Given the description of an element on the screen output the (x, y) to click on. 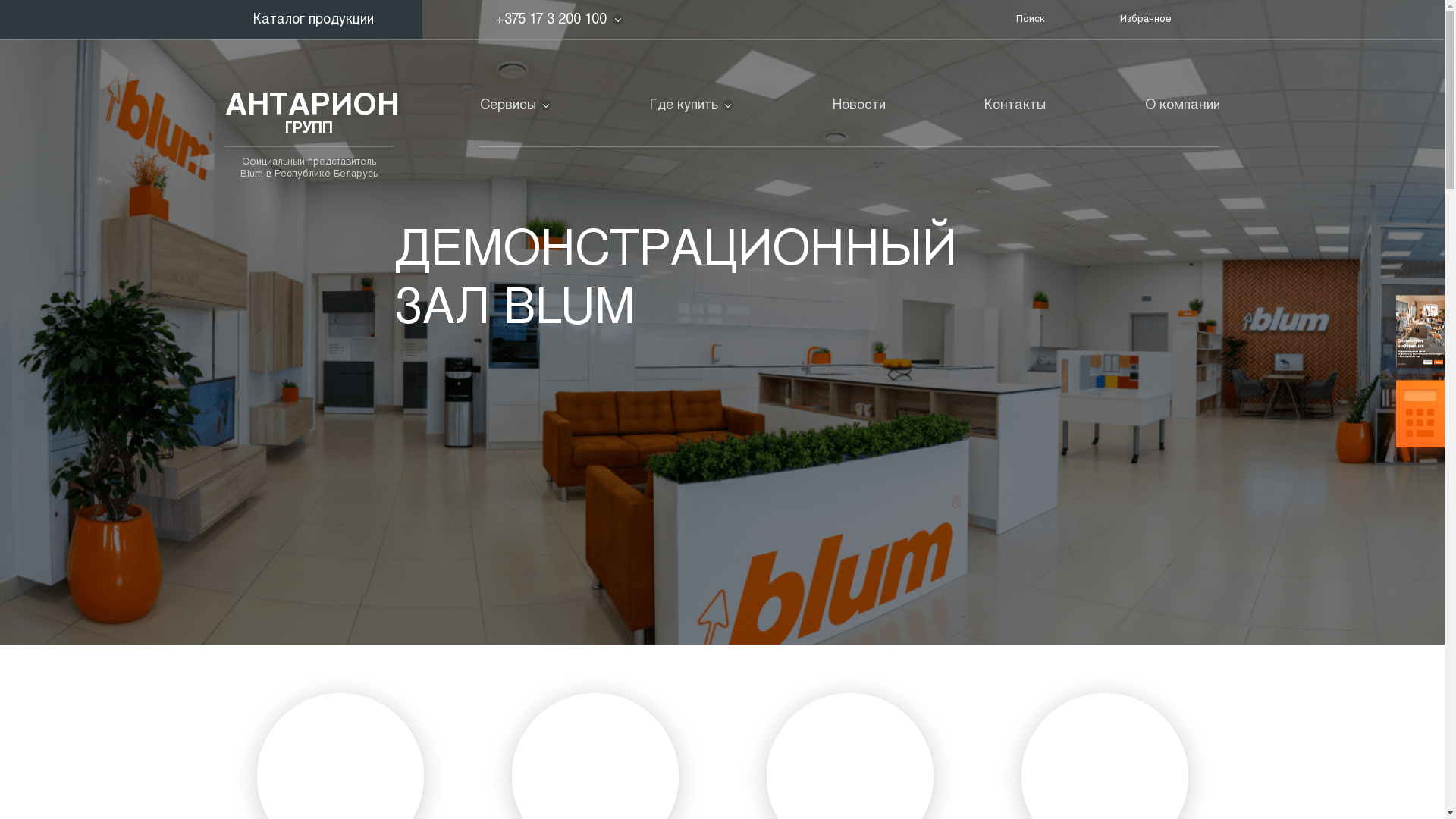
+375 17 3 200 100 Element type: text (550, 19)
